Given the description of an element on the screen output the (x, y) to click on. 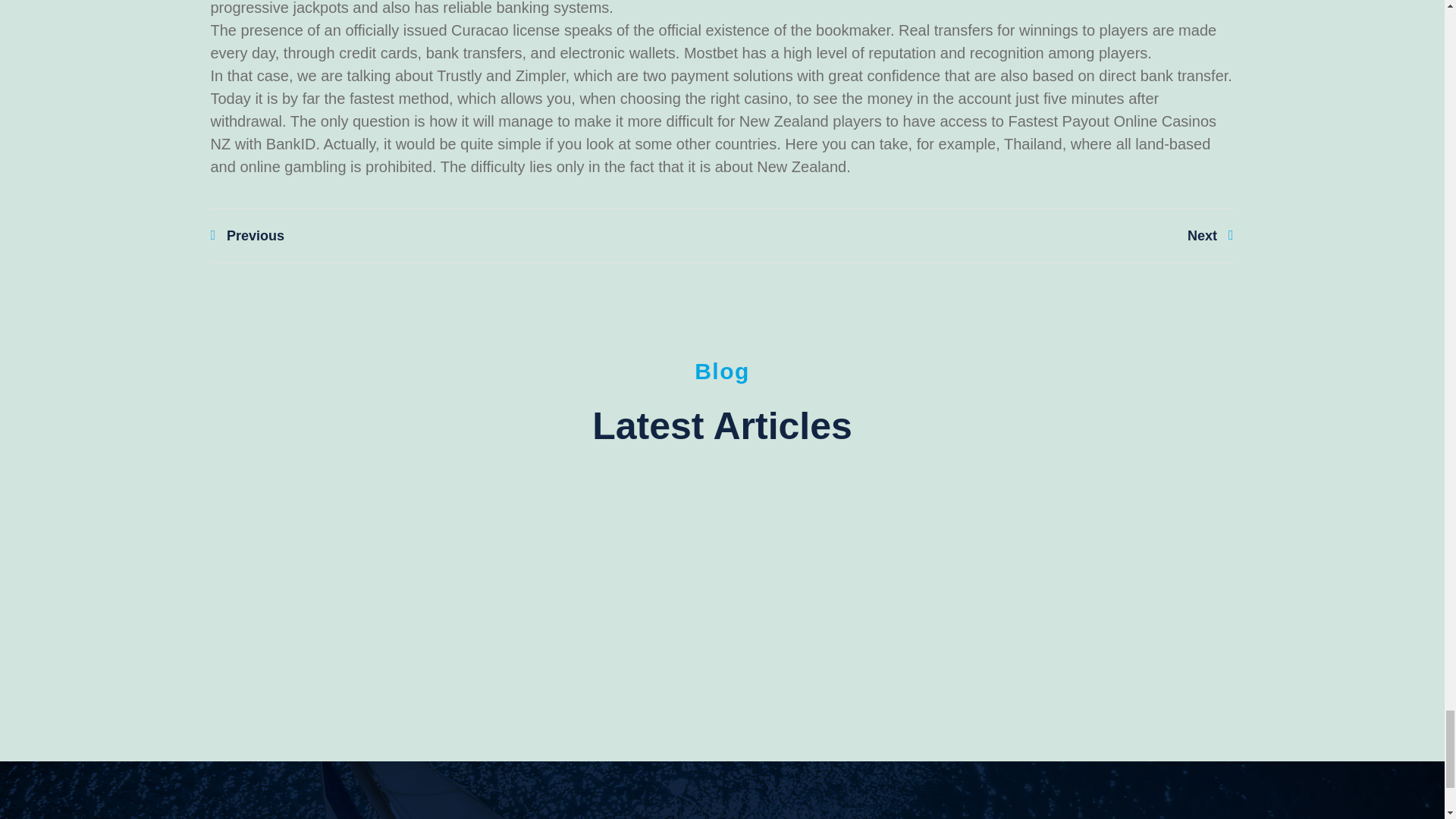
Previous (466, 236)
Next (977, 236)
